Given the description of an element on the screen output the (x, y) to click on. 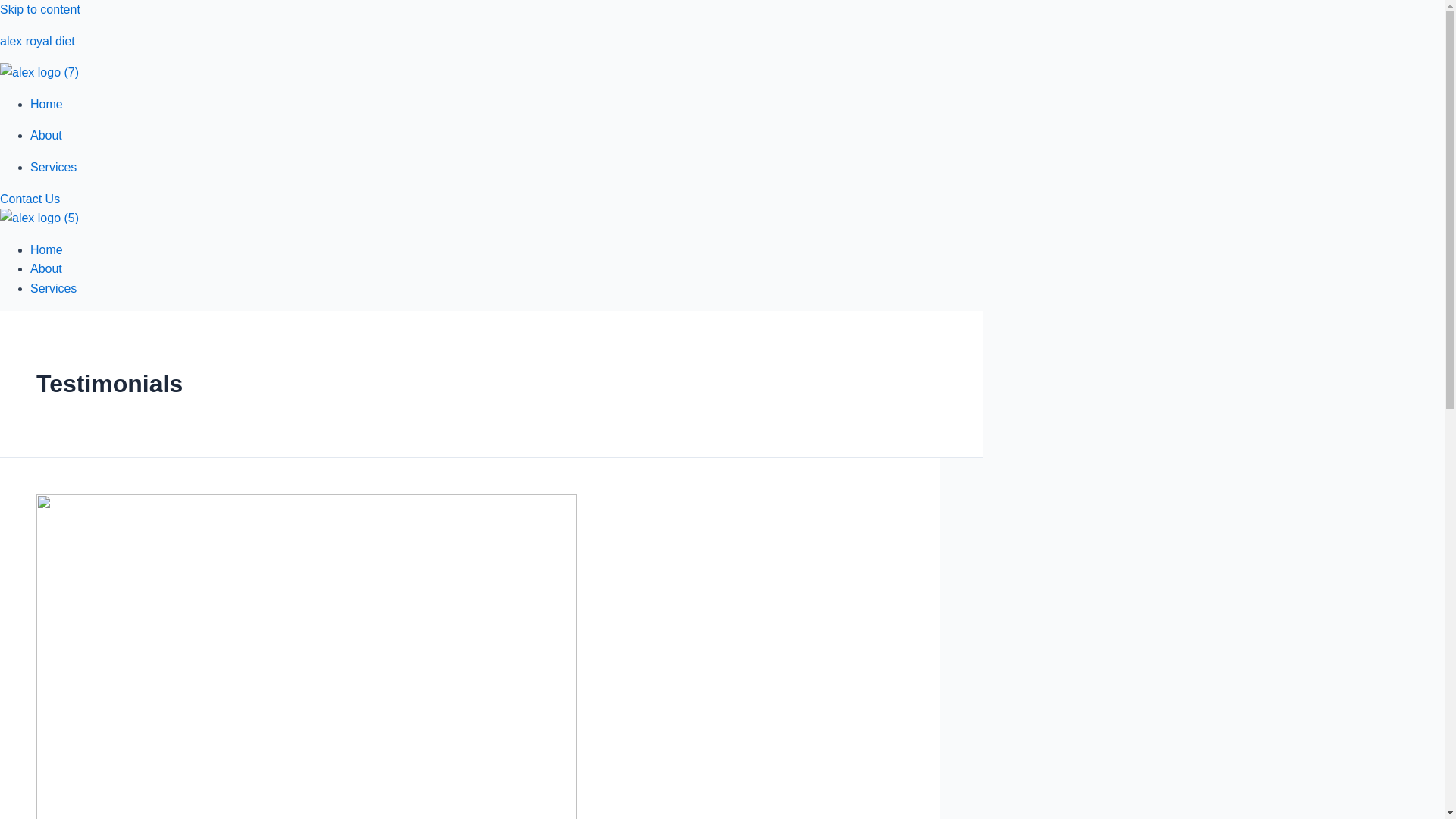
Home (46, 103)
Contact Us (29, 198)
Services (53, 287)
alex royal diet (37, 41)
Skip to content (40, 9)
Home (46, 249)
About (46, 134)
alex royal diet (37, 41)
Services (53, 166)
About (46, 268)
Skip to content (40, 9)
